Given the description of an element on the screen output the (x, y) to click on. 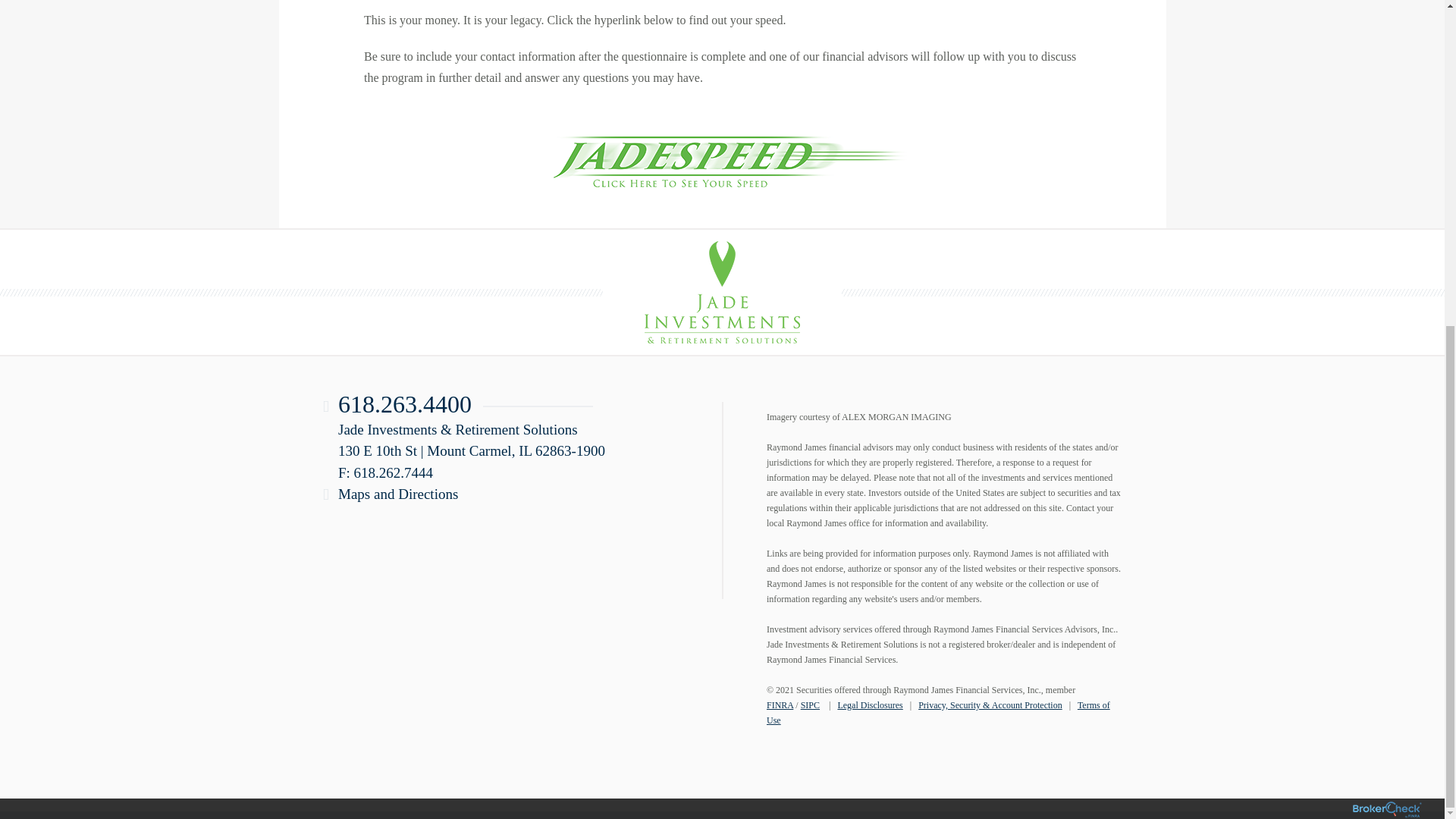
Privacy, Security and Account Protection (990, 705)
FINRA (780, 705)
SIPC (809, 705)
Terms of Use (938, 712)
Legal Disclosures (869, 705)
